Given the description of an element on the screen output the (x, y) to click on. 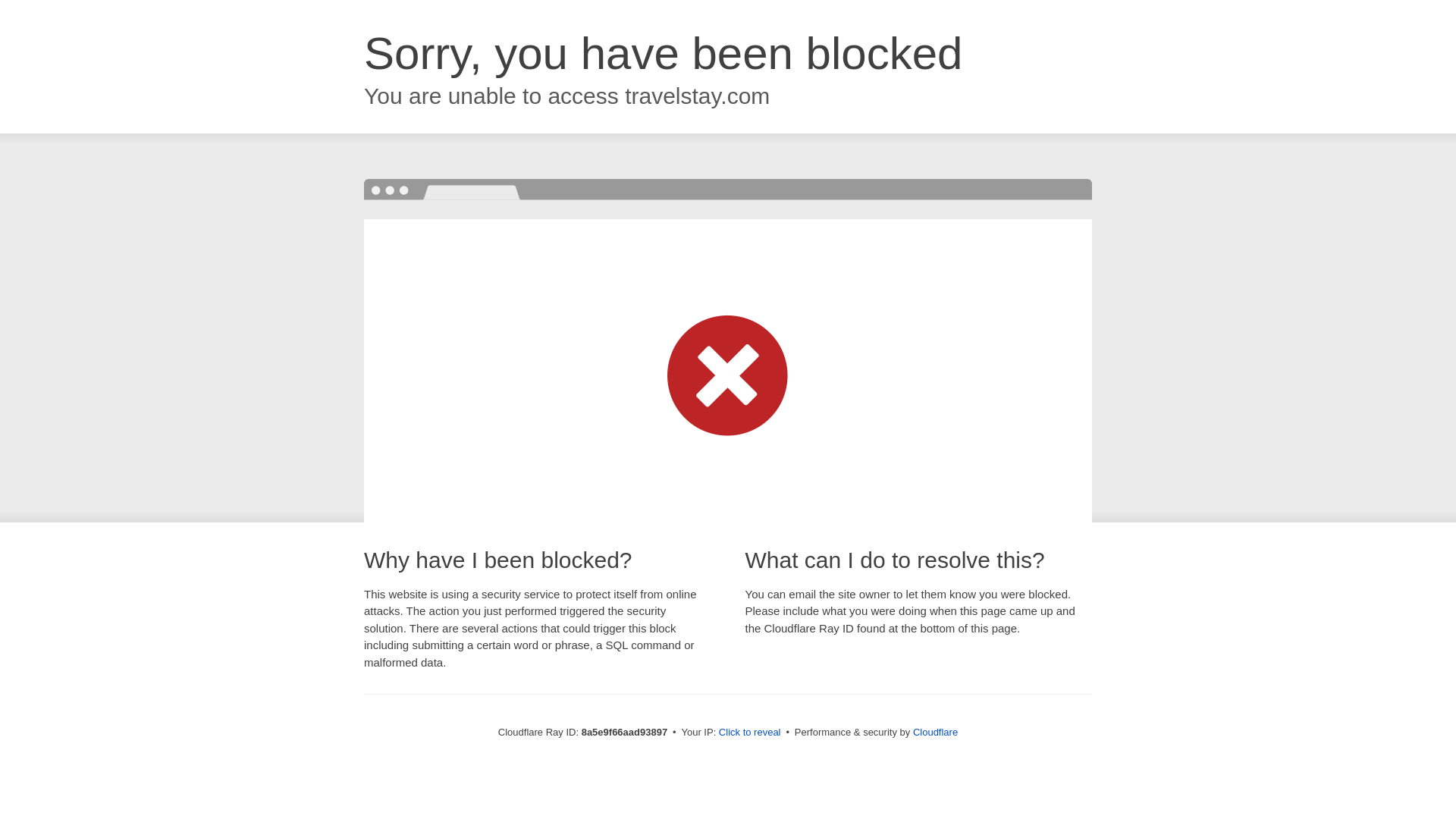
Click to reveal (749, 732)
Cloudflare (935, 731)
